Given the description of an element on the screen output the (x, y) to click on. 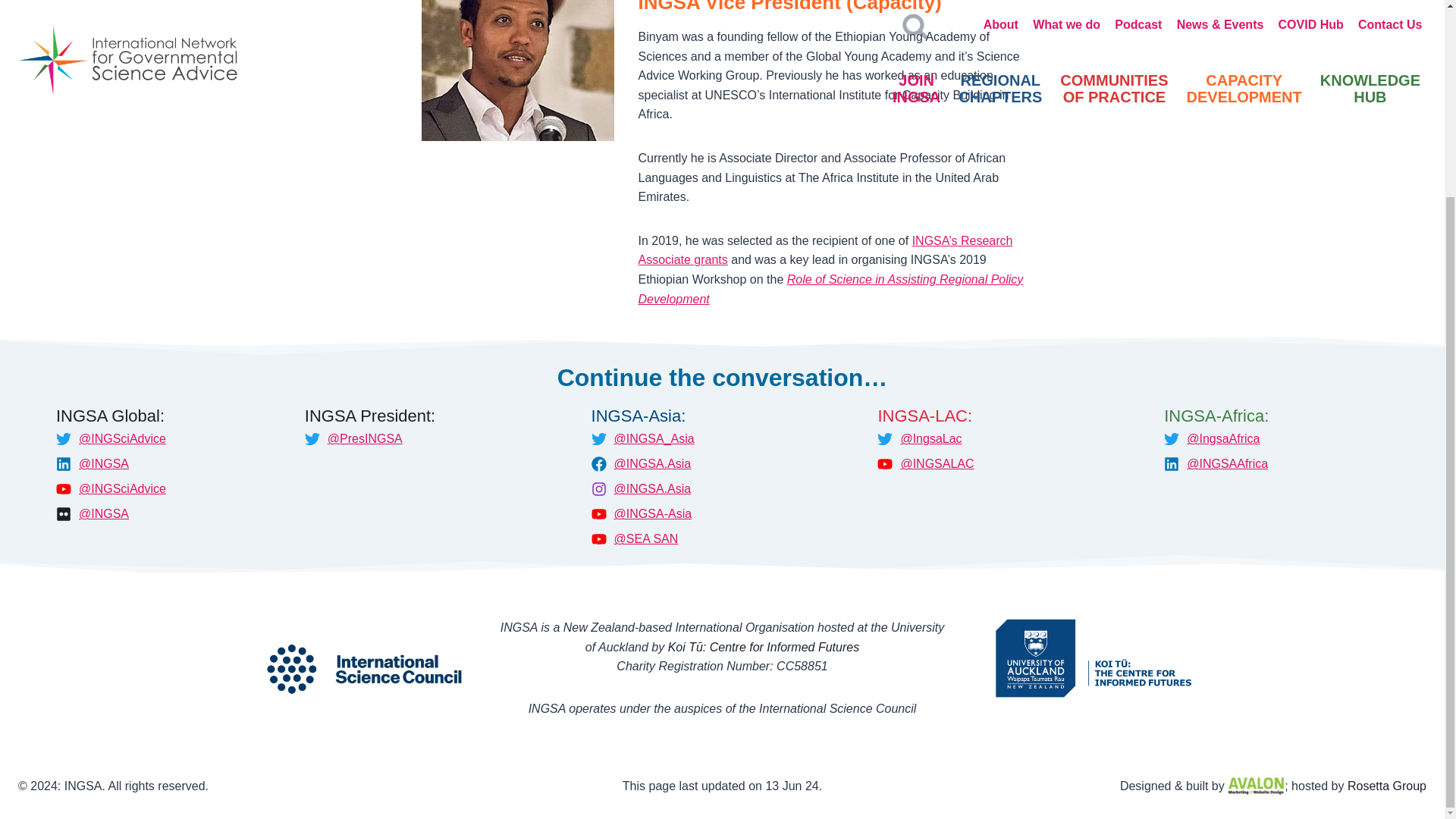
Role of Science in Assisting Regional Policy Development (831, 288)
Rosetta Group (1387, 784)
